Given the description of an element on the screen output the (x, y) to click on. 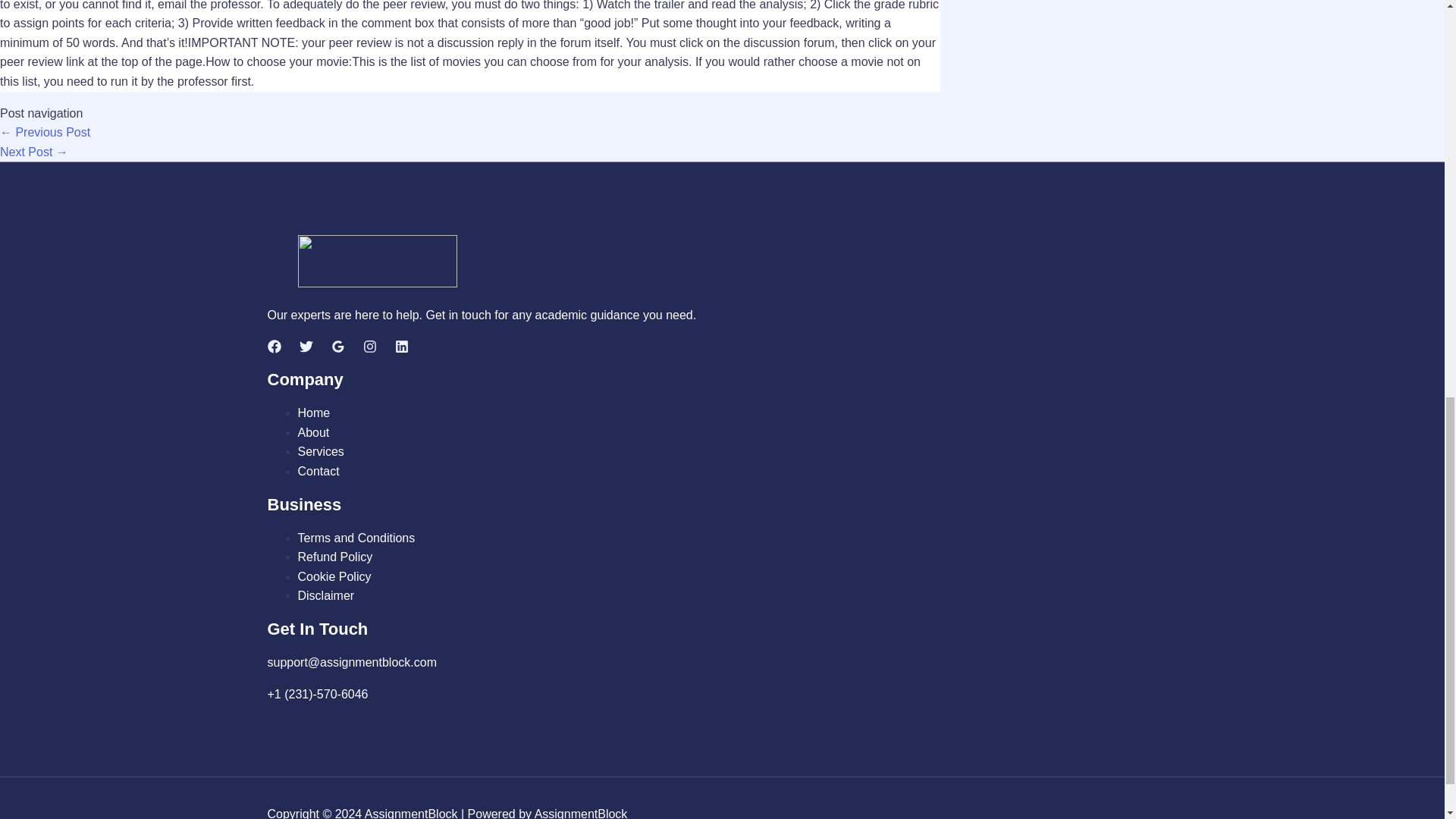
Google Reviews (336, 345)
Services (320, 451)
Home (313, 412)
Terms and Conditions (355, 537)
Google Reviews (336, 349)
About (313, 431)
Contact (318, 471)
Cookie Policy (334, 576)
Refund Policy (334, 556)
Disclaimer (325, 594)
